Given the description of an element on the screen output the (x, y) to click on. 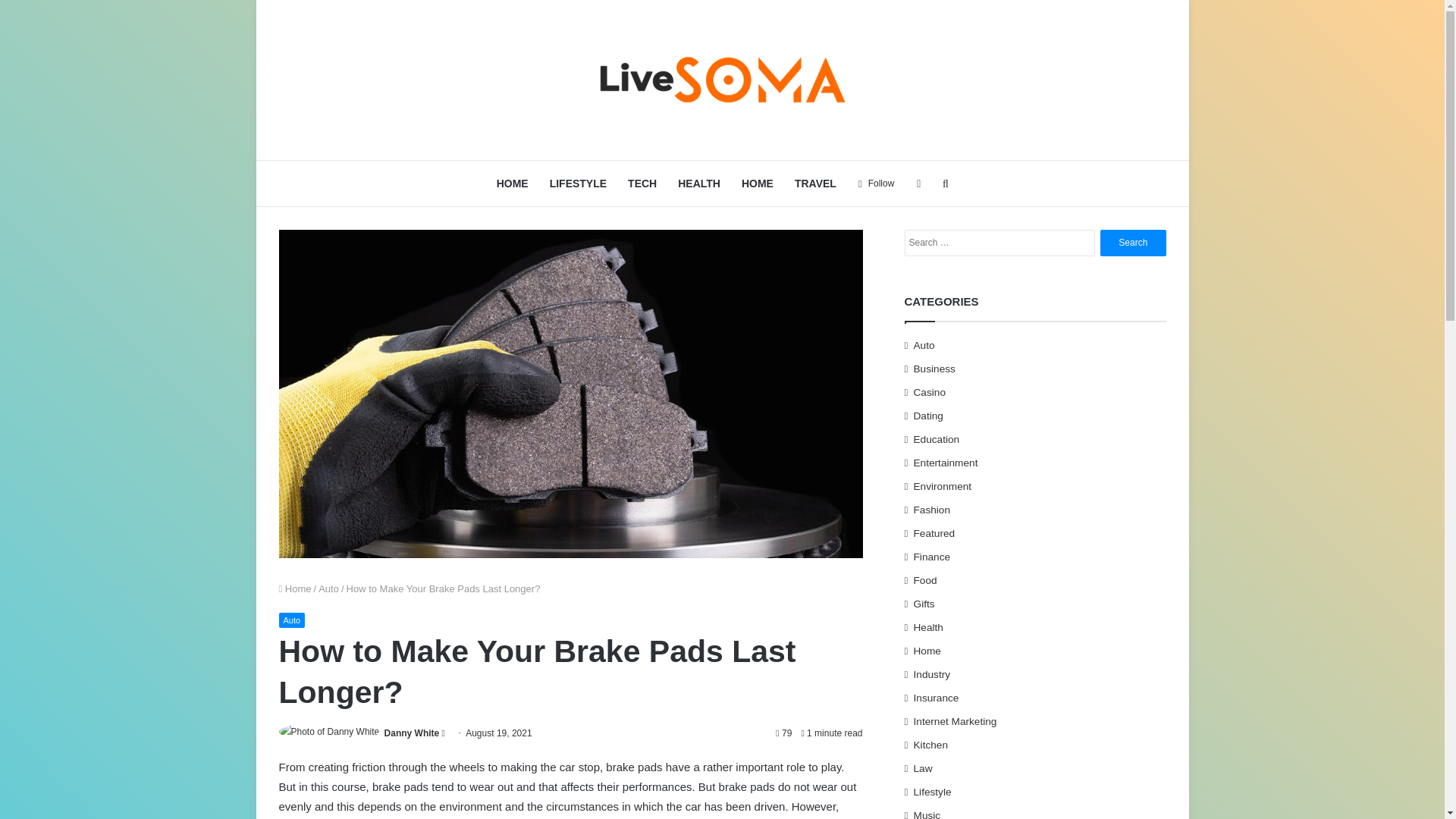
TRAVEL (815, 183)
Casino (929, 391)
Home (295, 588)
Education (936, 438)
Business (934, 368)
HOME (512, 183)
Auto (292, 620)
Search (1133, 243)
Follow (876, 183)
Search (1133, 243)
